Given the description of an element on the screen output the (x, y) to click on. 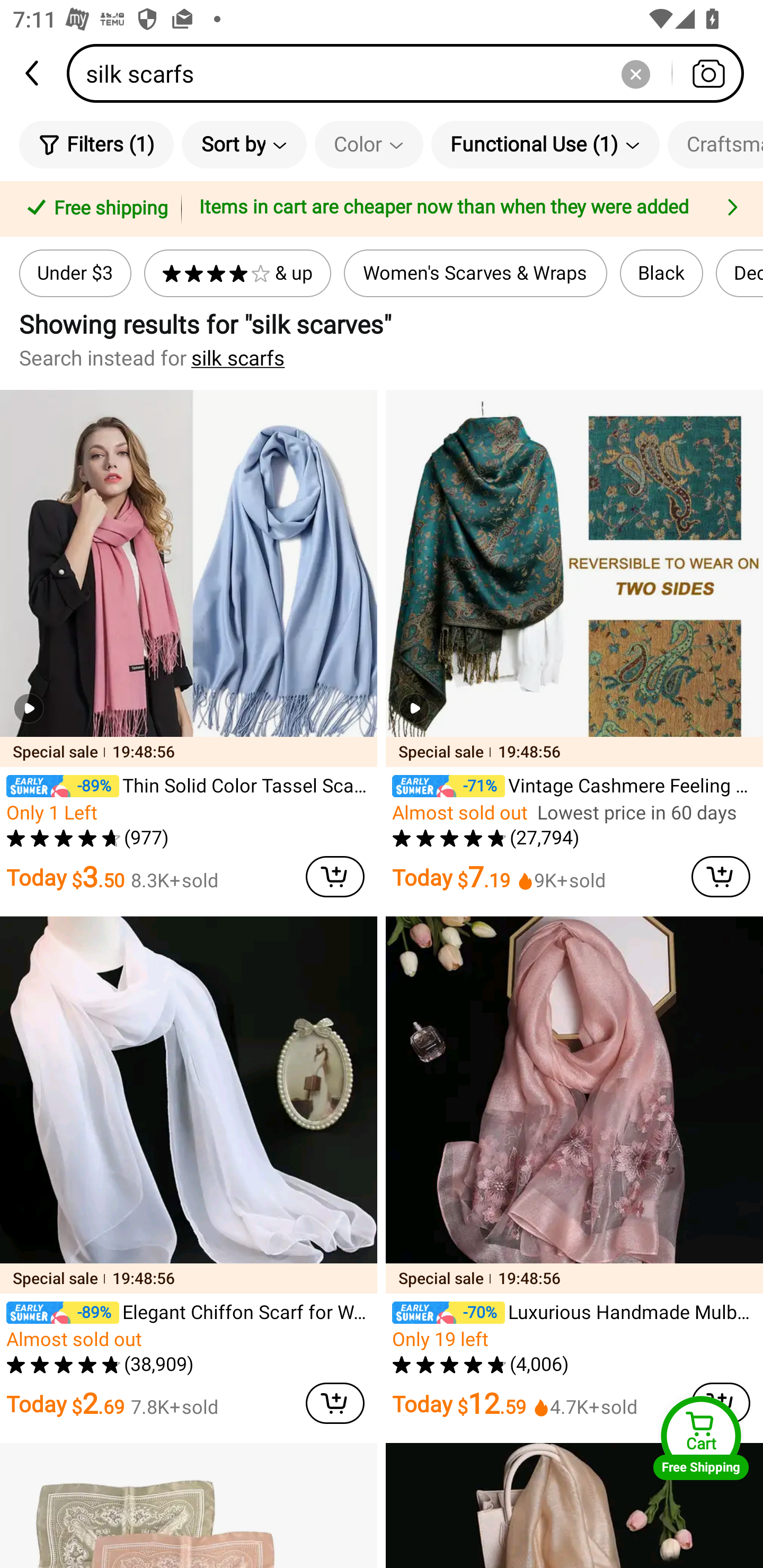
back (33, 72)
silk scarfs (411, 73)
Delete search history (635, 73)
Search by photo (708, 73)
Filters (1) (96, 143)
Sort by (243, 143)
Color (368, 143)
Functional Use (1) (545, 143)
Craftsmanship (715, 143)
 Free shipping (93, 208)
Under $3 (75, 273)
& up (237, 273)
Women's Scarves & Wraps (475, 273)
Black (661, 273)
silk scarfs (238, 358)
Cart Free Shipping Cart (701, 1437)
